Given the description of an element on the screen output the (x, y) to click on. 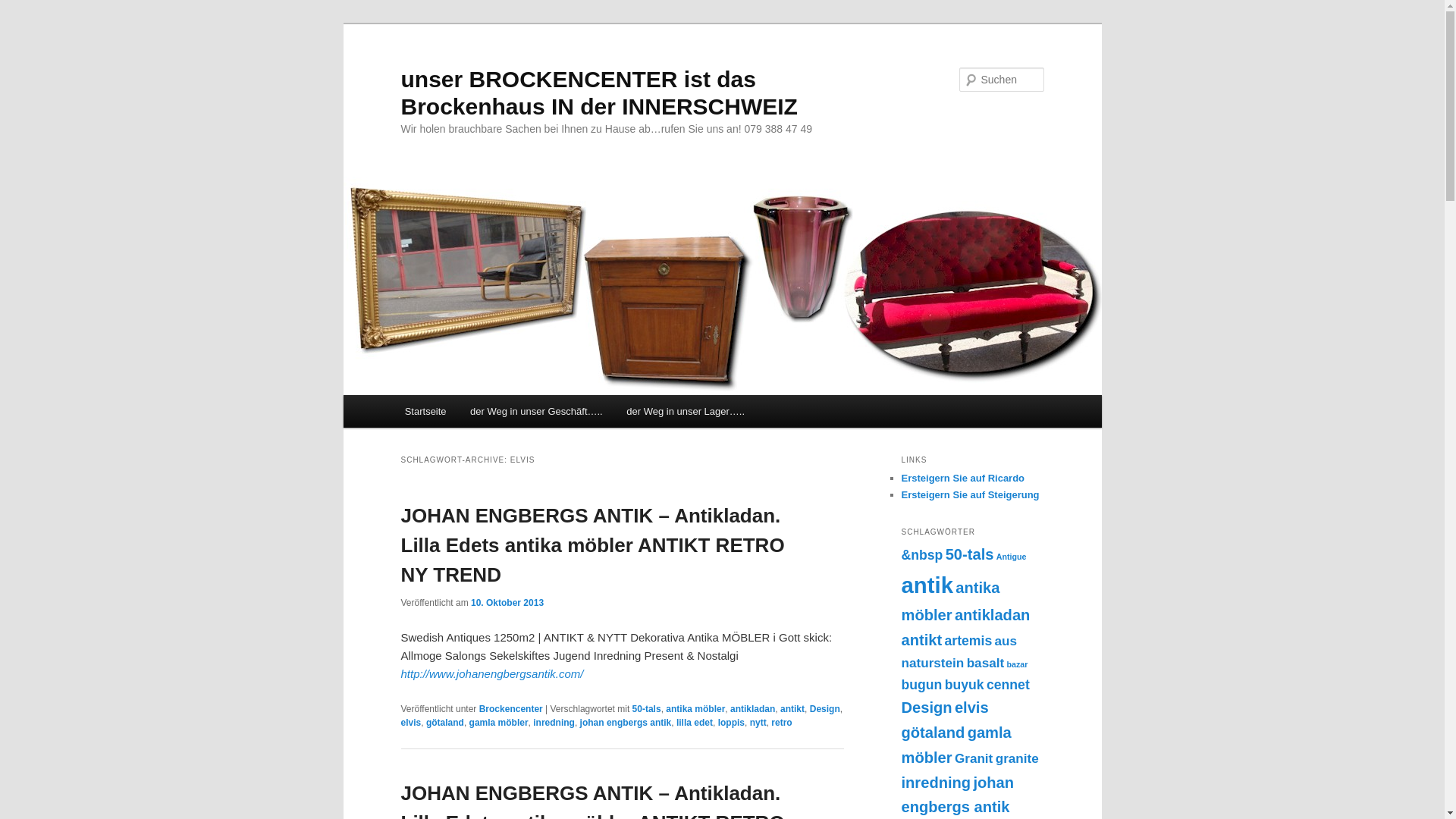
Suchen Element type: text (25, 8)
retro Element type: text (781, 722)
bugun Element type: text (920, 684)
unser BROCKENCENTER ist das Brockenhaus IN der INNERSCHWEIZ Element type: text (598, 92)
&nbsp Element type: text (921, 554)
http://www.johanengbergsantik.com/ Element type: text (491, 673)
antikladan Element type: text (752, 708)
artemis Element type: text (967, 640)
Design Element type: text (925, 707)
elvis Element type: text (971, 707)
Startseite Element type: text (425, 411)
antikladan Element type: text (991, 614)
granite Element type: text (1016, 757)
antikt Element type: text (920, 639)
johan engbergs antik Element type: text (956, 794)
Granit Element type: text (973, 757)
Zum Inhalt wechseln Element type: text (414, 395)
basalt Element type: text (985, 662)
bazar Element type: text (1016, 663)
50-tals Element type: text (969, 554)
Antigue Element type: text (1011, 556)
10. Oktober 2013 Element type: text (506, 602)
Brockencenter Element type: text (510, 708)
buyuk Element type: text (964, 684)
nytt Element type: text (757, 722)
50-tals Element type: text (646, 708)
loppis Element type: text (731, 722)
Ersteigern Sie auf Steigerung Element type: text (969, 494)
antik Element type: text (926, 584)
inredning Element type: text (553, 722)
Design Element type: text (824, 708)
Ersteigern Sie auf Ricardo Element type: text (962, 477)
elvis Element type: text (410, 722)
inredning Element type: text (935, 781)
johan engbergs antik Element type: text (625, 722)
aus naturstein Element type: text (958, 651)
lilla edet Element type: text (694, 722)
cennet Element type: text (1007, 684)
antikt Element type: text (792, 708)
